Given the description of an element on the screen output the (x, y) to click on. 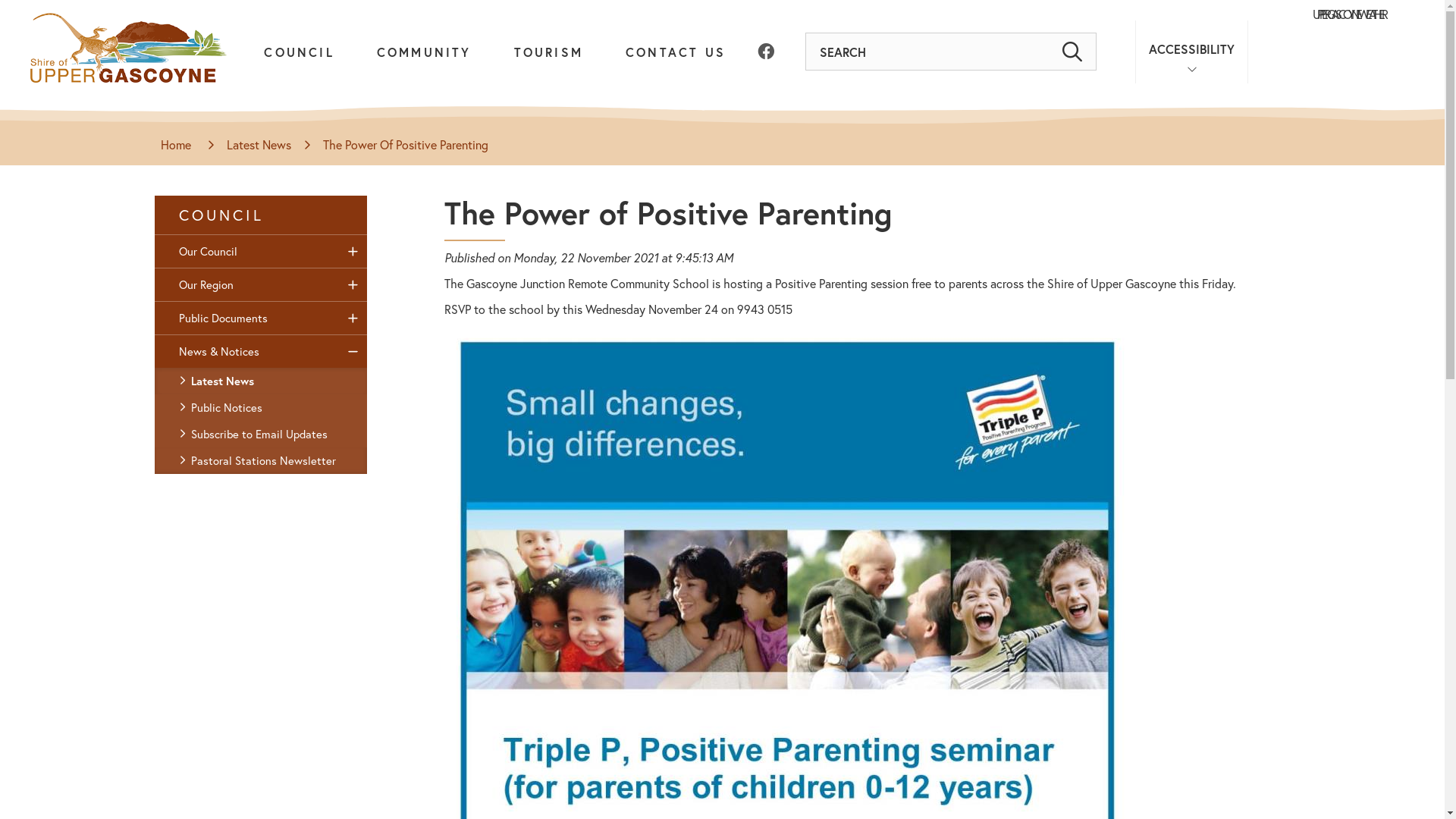
Pastoral Stations Newsletter Element type: text (260, 460)
Latest News Element type: text (260, 380)
Home Element type: text (177, 145)
Subscribe to Email Updates Element type: text (260, 433)
COUNCIL Element type: text (298, 69)
Public Documents Element type: text (260, 317)
Public Notices Element type: text (260, 407)
CONTACT US Element type: text (675, 69)
Latest News Element type: text (258, 145)
ACCESSIBILITY Element type: text (1191, 50)
Our Council Element type: text (260, 251)
Find out on Facebook Element type: text (763, 51)
The Power Of Positive Parenting Element type: text (405, 145)
TOURISM Element type: text (548, 69)
COUNCIL Element type: text (260, 214)
News & Notices Element type: text (260, 351)
COMMUNITY Element type: text (423, 69)
Our Region Element type: text (260, 284)
